Given the description of an element on the screen output the (x, y) to click on. 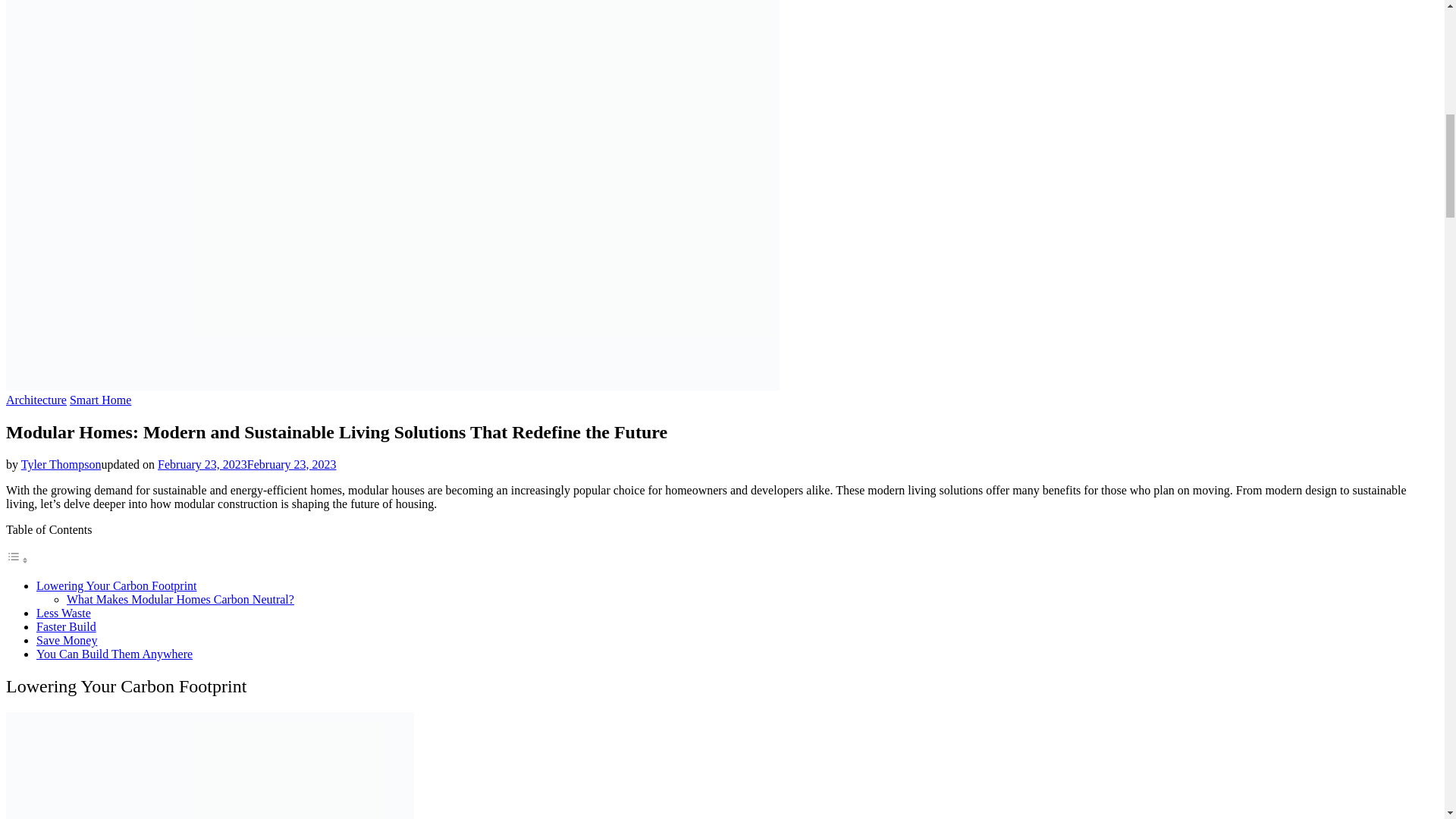
Save Money (66, 640)
Faster Build (66, 626)
You Can Build Them Anywhere (114, 653)
What Makes Modular Homes Carbon Neutral? (180, 599)
Less Waste (63, 612)
Lowering Your Carbon Footprint (116, 585)
